Given the description of an element on the screen output the (x, y) to click on. 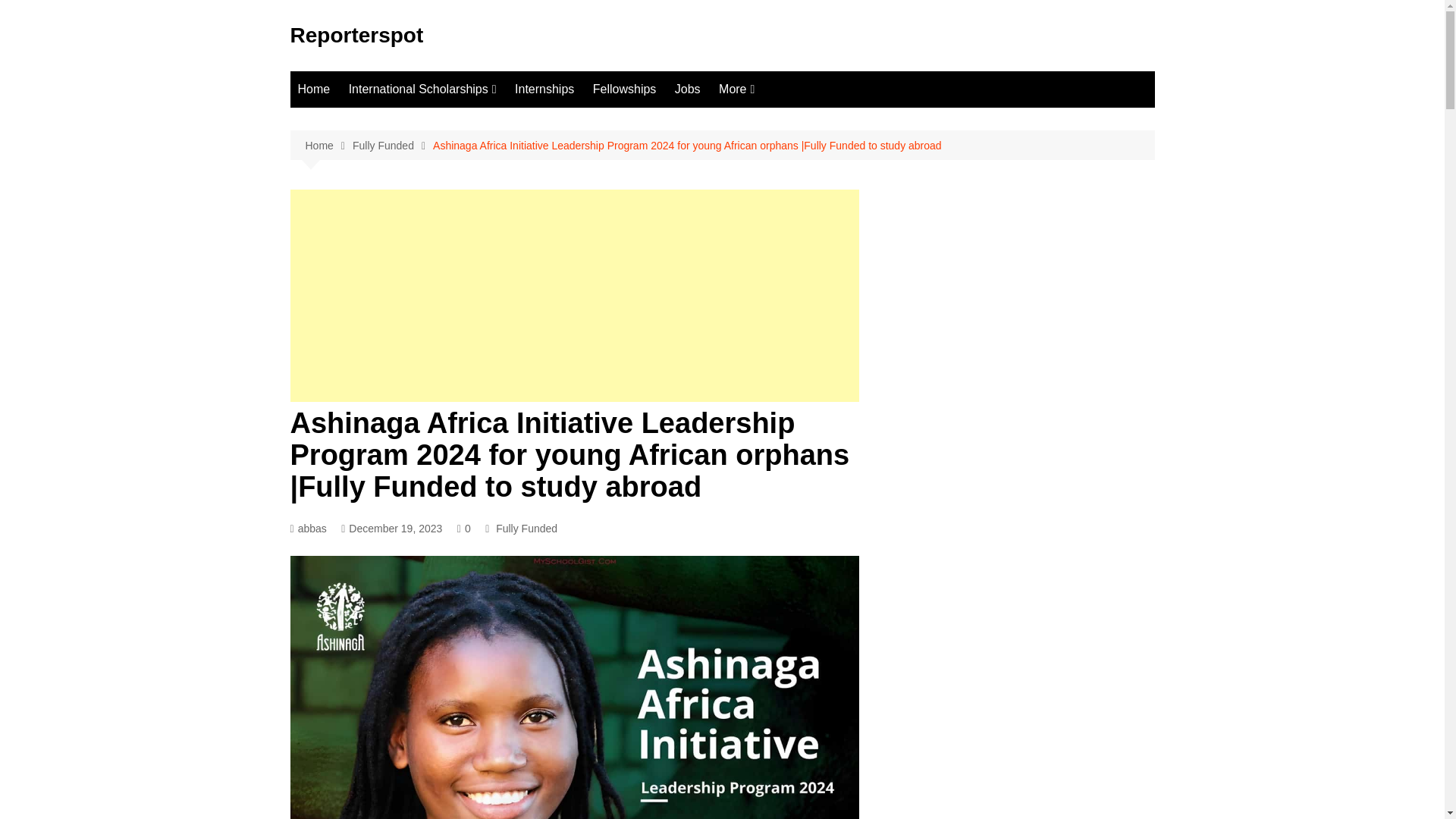
Fully Funded (392, 145)
Fellowships (624, 89)
Home (328, 145)
Home (313, 89)
Competitions (794, 170)
International Scholarships (421, 89)
Funding and Grants (794, 119)
UK Scholarships (424, 145)
China Scholarships (424, 170)
Training (794, 220)
